Given the description of an element on the screen output the (x, y) to click on. 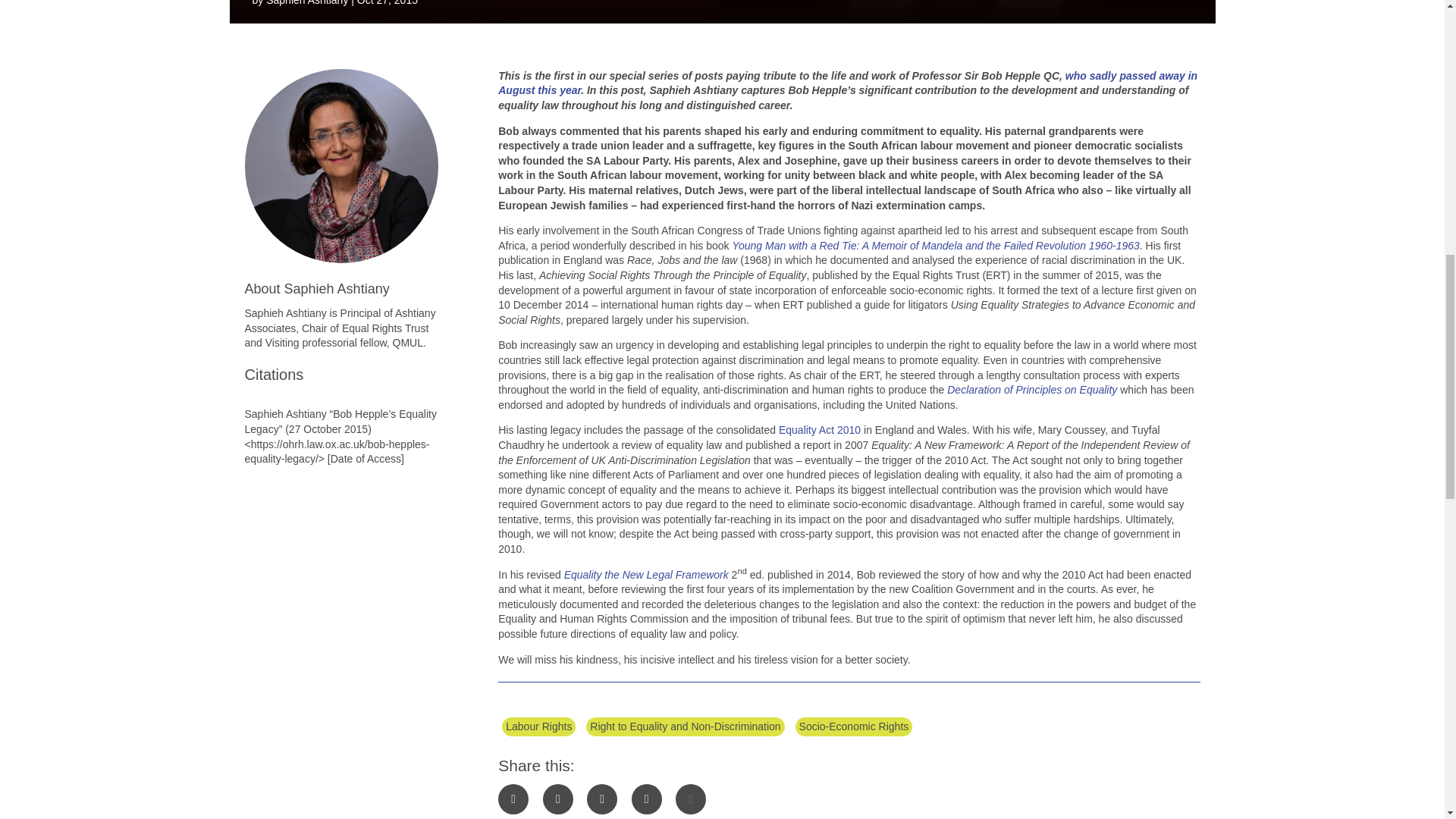
Posts by Saphieh Ashtiany (306, 2)
bob-hepple-new-legal-framework (721, 11)
